Given the description of an element on the screen output the (x, y) to click on. 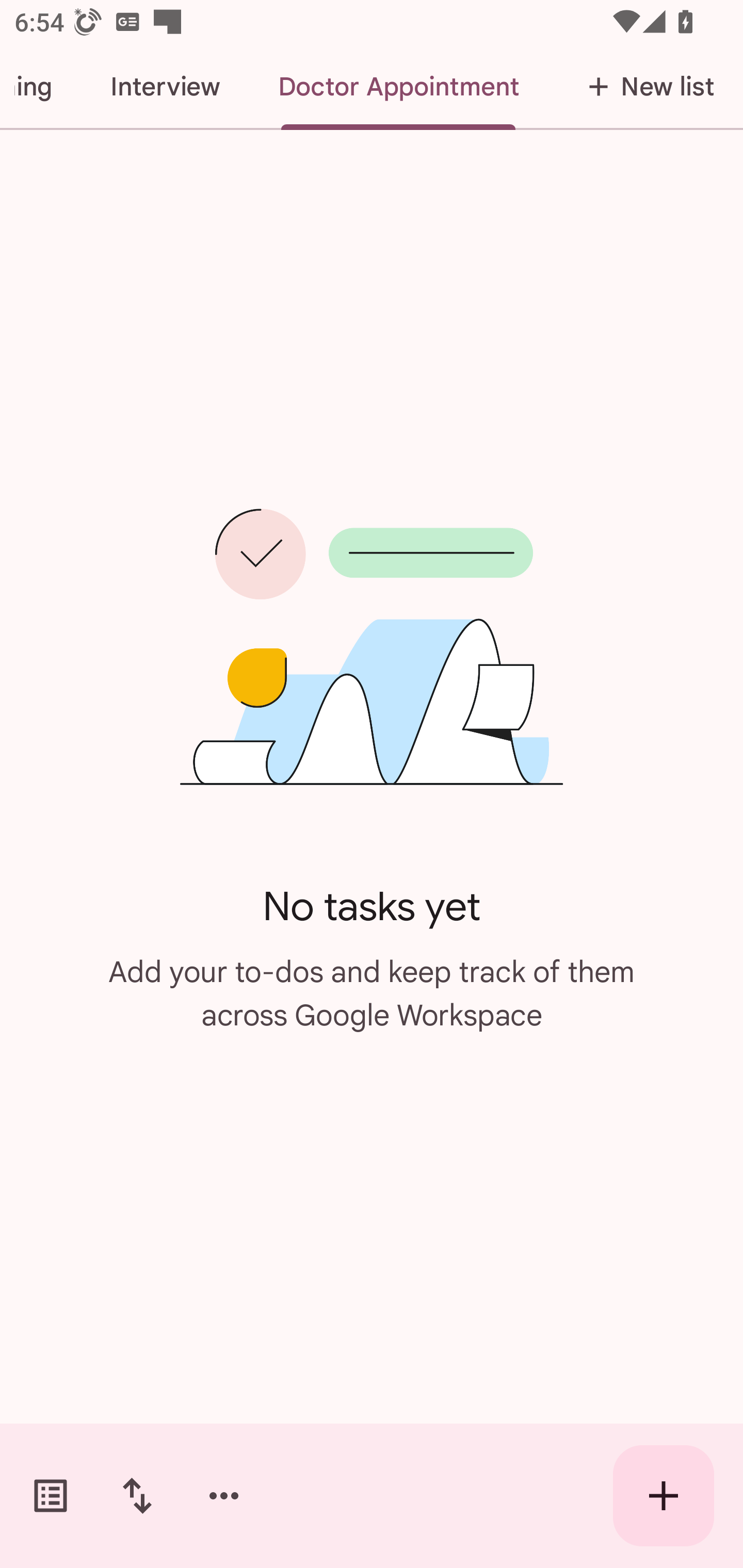
Interview (164, 86)
New list (645, 86)
Switch task lists (50, 1495)
Create new task (663, 1495)
Change sort order (136, 1495)
More options (223, 1495)
